Given the description of an element on the screen output the (x, y) to click on. 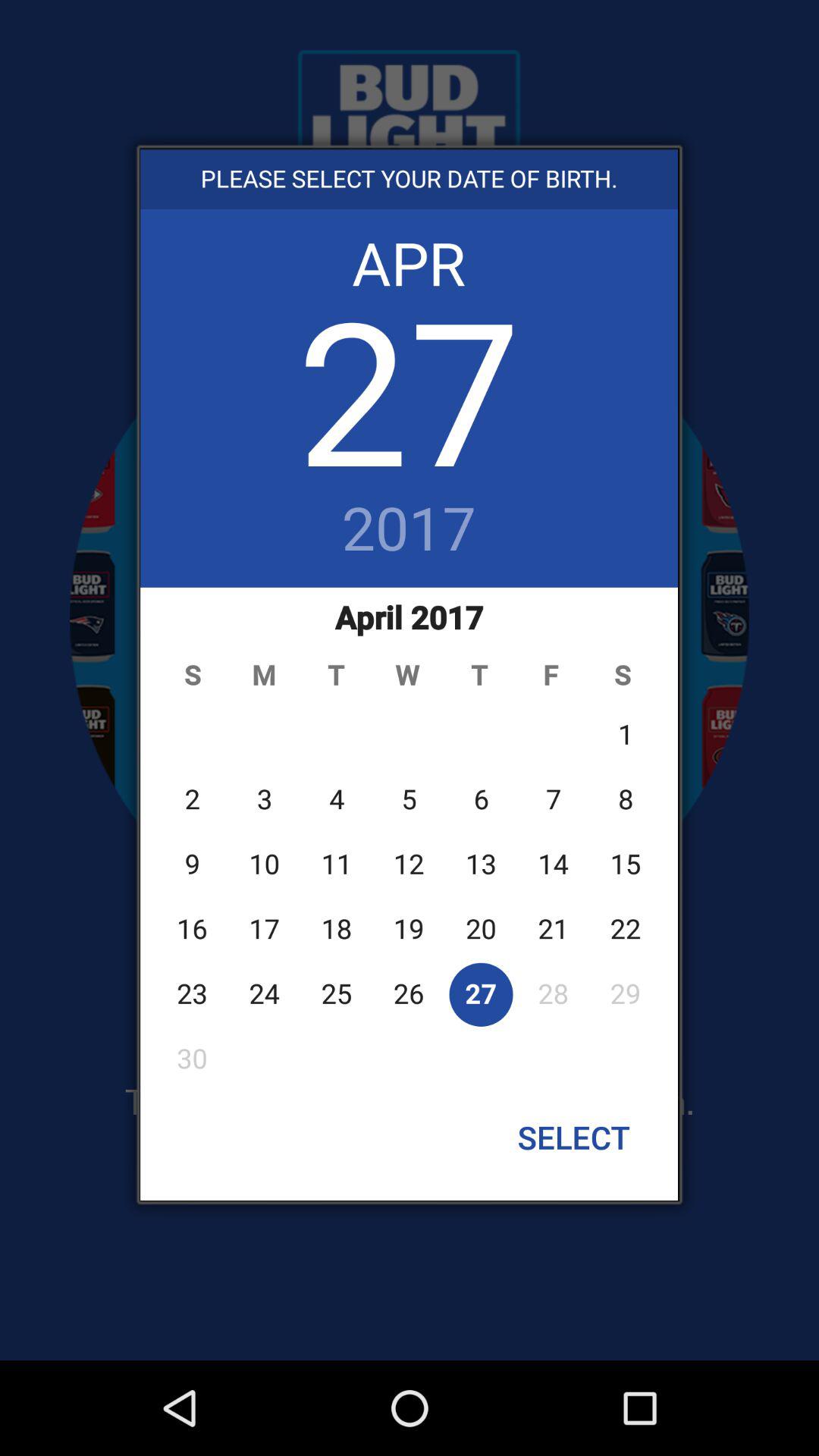
press the button above the select icon (409, 838)
